Given the description of an element on the screen output the (x, y) to click on. 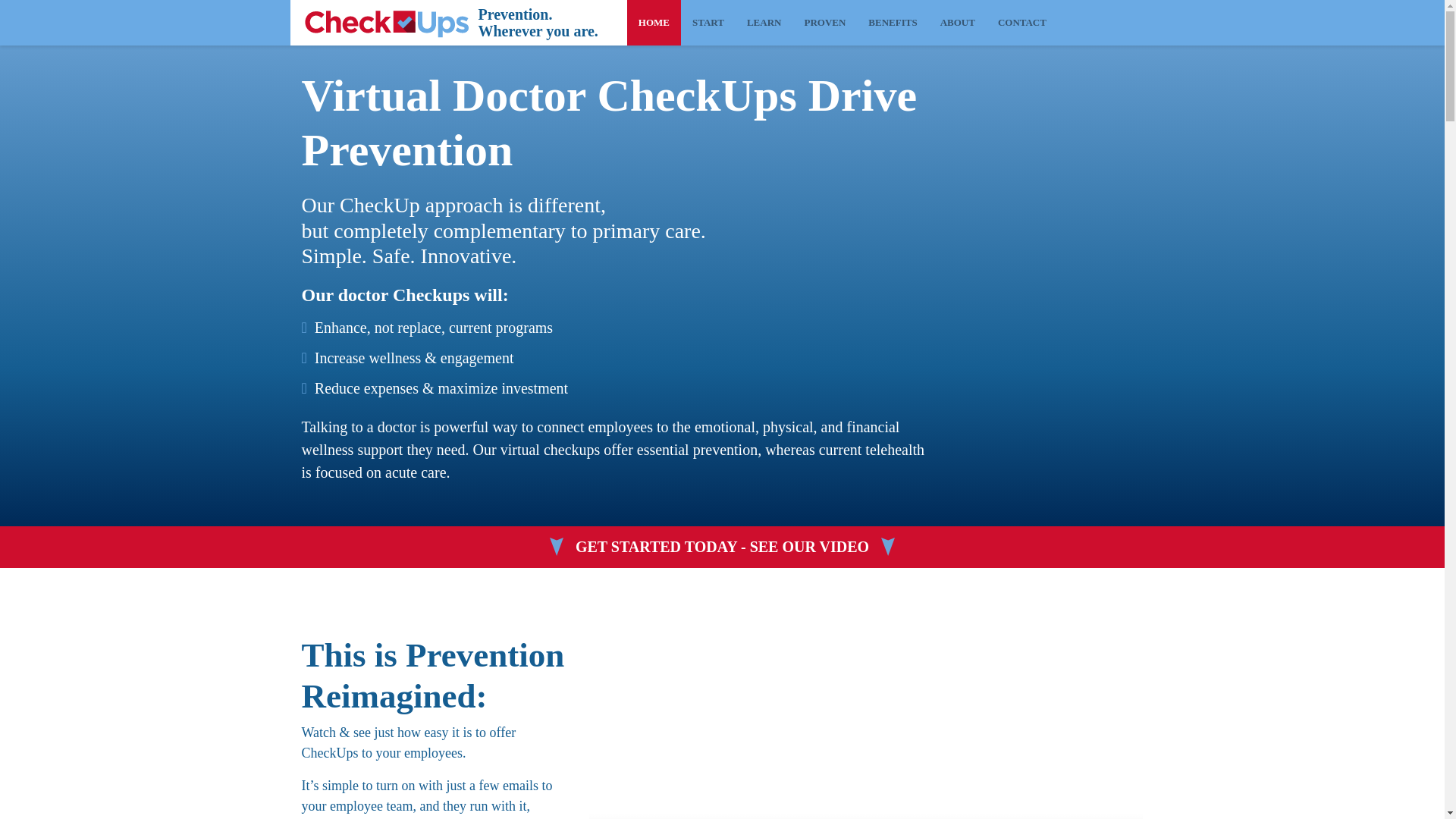
HOME (654, 22)
BENEFITS (892, 22)
ABOUT (957, 22)
CONTACT (1022, 22)
PROVEN (824, 22)
LEARN (764, 22)
START (708, 22)
